Given the description of an element on the screen output the (x, y) to click on. 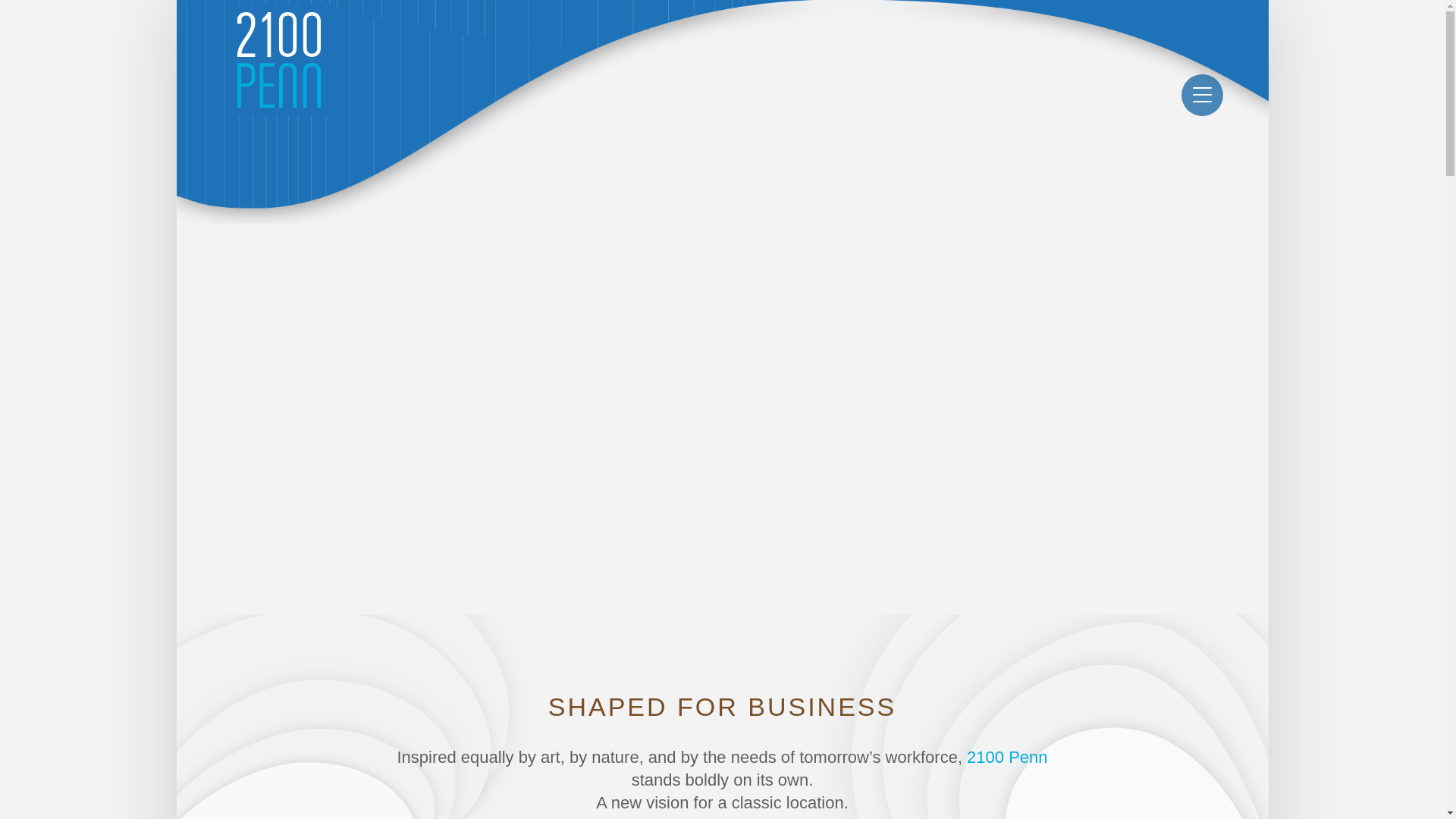
2100 Penn Element type: text (1006, 756)
